Given the description of an element on the screen output the (x, y) to click on. 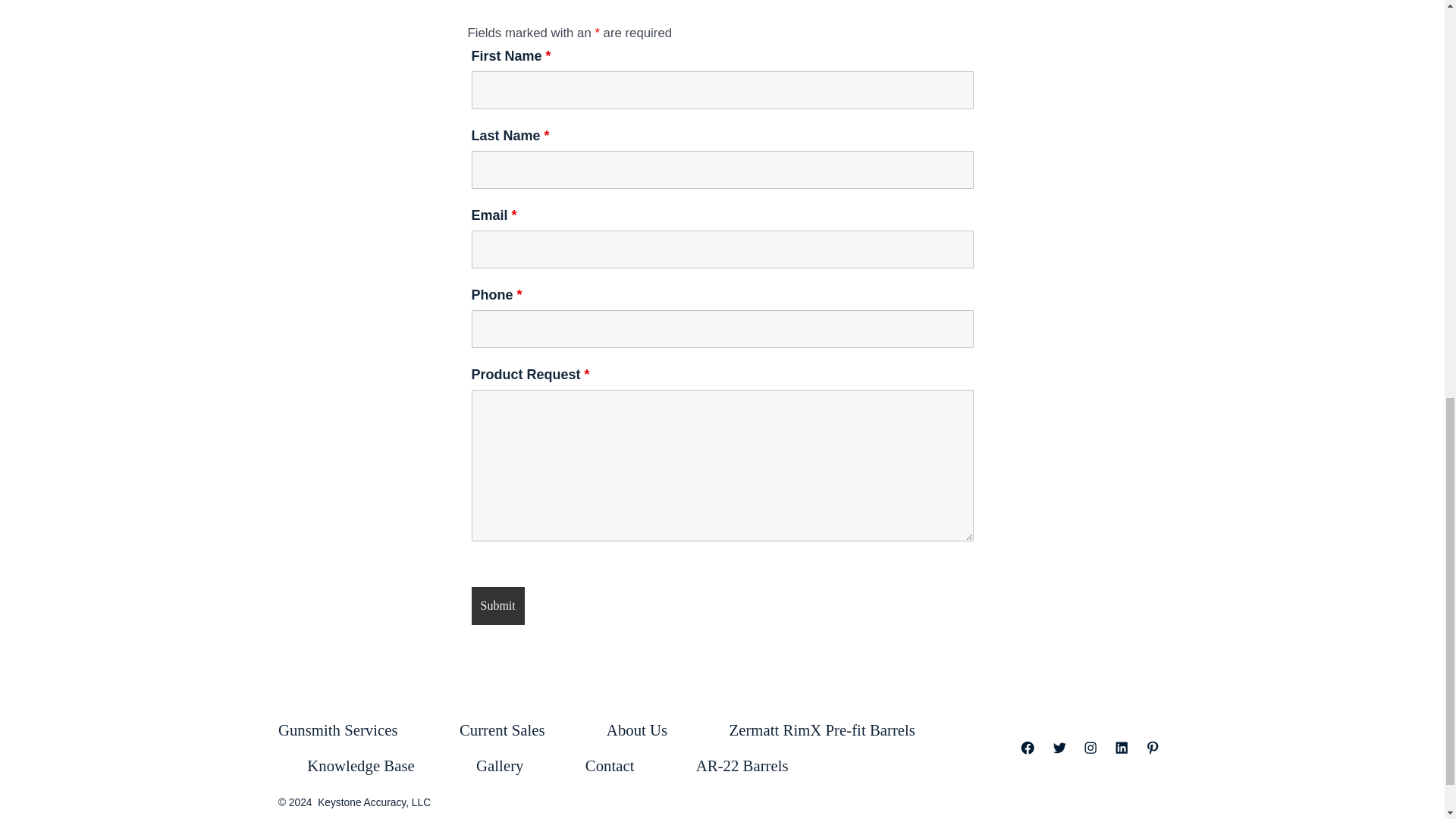
Gallery (499, 765)
AR-22 Barrels (741, 765)
Current Sales (501, 730)
Contact (609, 765)
About Us (635, 730)
Open Facebook in a new tab (1027, 747)
Open Twitter in a new tab (1059, 747)
Knowledge Base (361, 765)
Zermatt RimX Pre-fit Barrels (821, 730)
Open Pinterest in a new tab (1152, 747)
Submit (497, 605)
Gunsmith Services (352, 730)
Submit (497, 605)
Open Instagram in a new tab (1090, 747)
Open LinkedIn in a new tab (1121, 747)
